Given the description of an element on the screen output the (x, y) to click on. 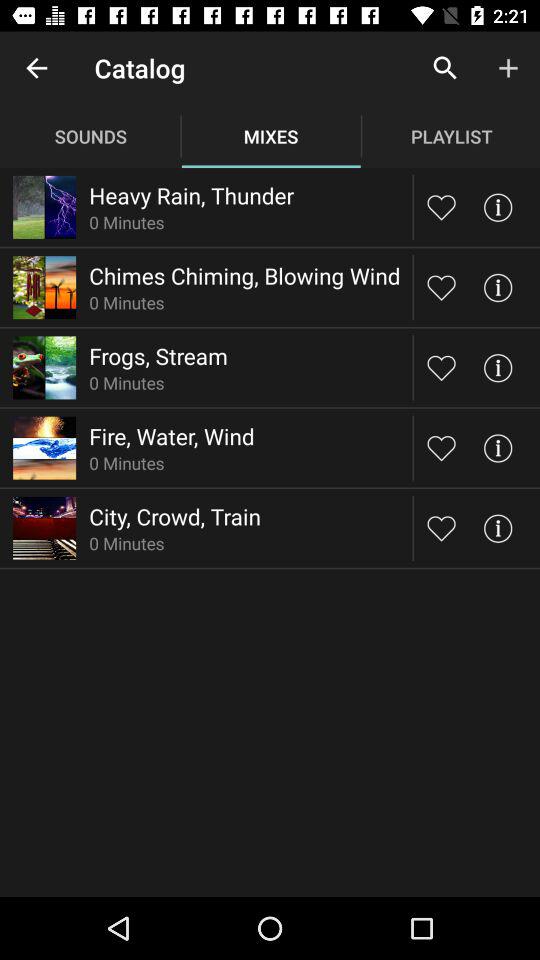
love the rain (441, 206)
